Given the description of an element on the screen output the (x, y) to click on. 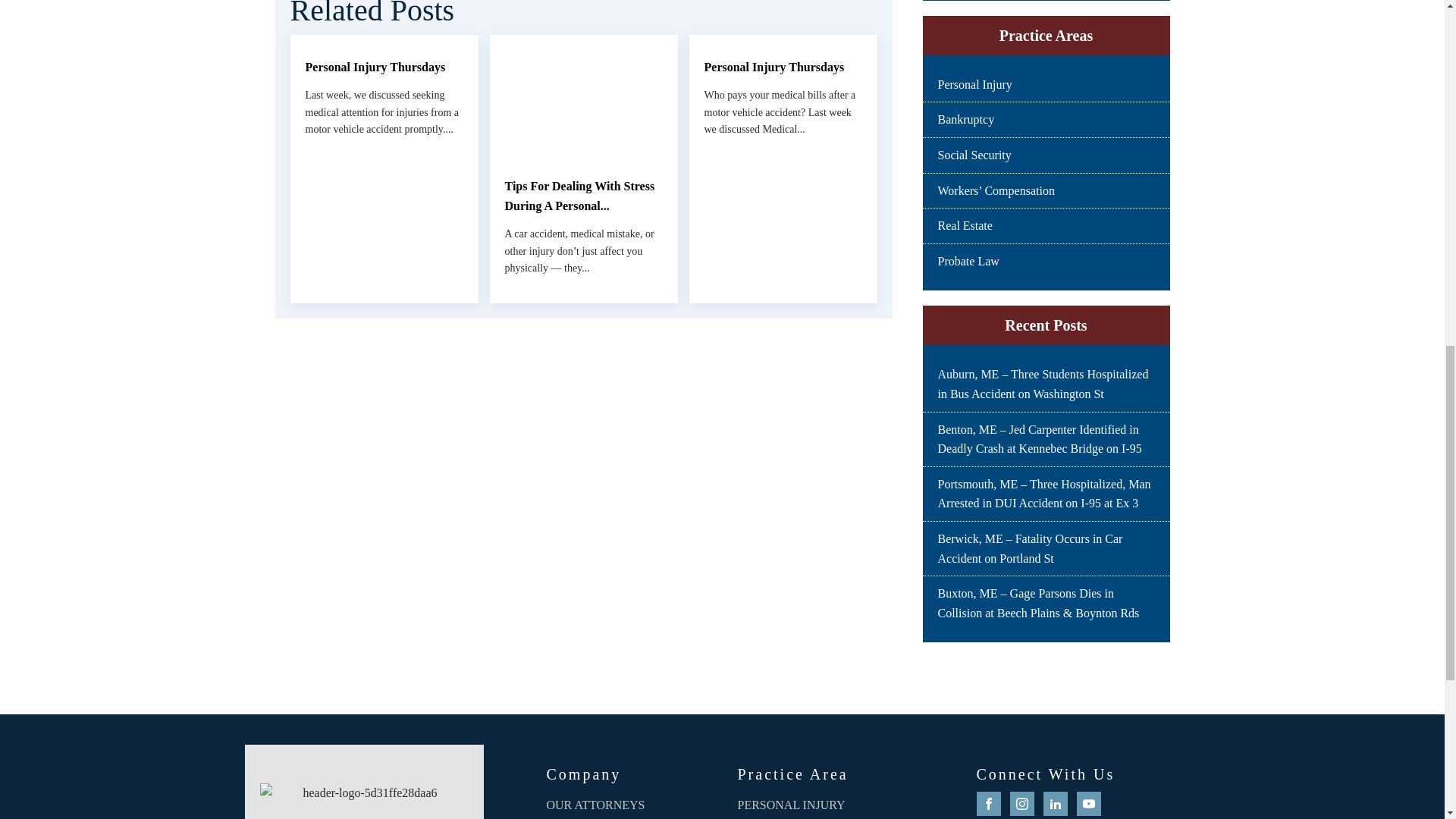
OUR ATTORNEYS (604, 805)
Bankruptcy (965, 119)
Tips For Dealing With Stress During A Personal... (583, 195)
Personal Injury (974, 83)
Probate Law (967, 260)
Real Estate (964, 225)
Social Security (973, 154)
Personal Injury Thursdays (383, 66)
Personal Injury Thursdays (782, 66)
PERSONAL INJURY (816, 805)
